Given the description of an element on the screen output the (x, y) to click on. 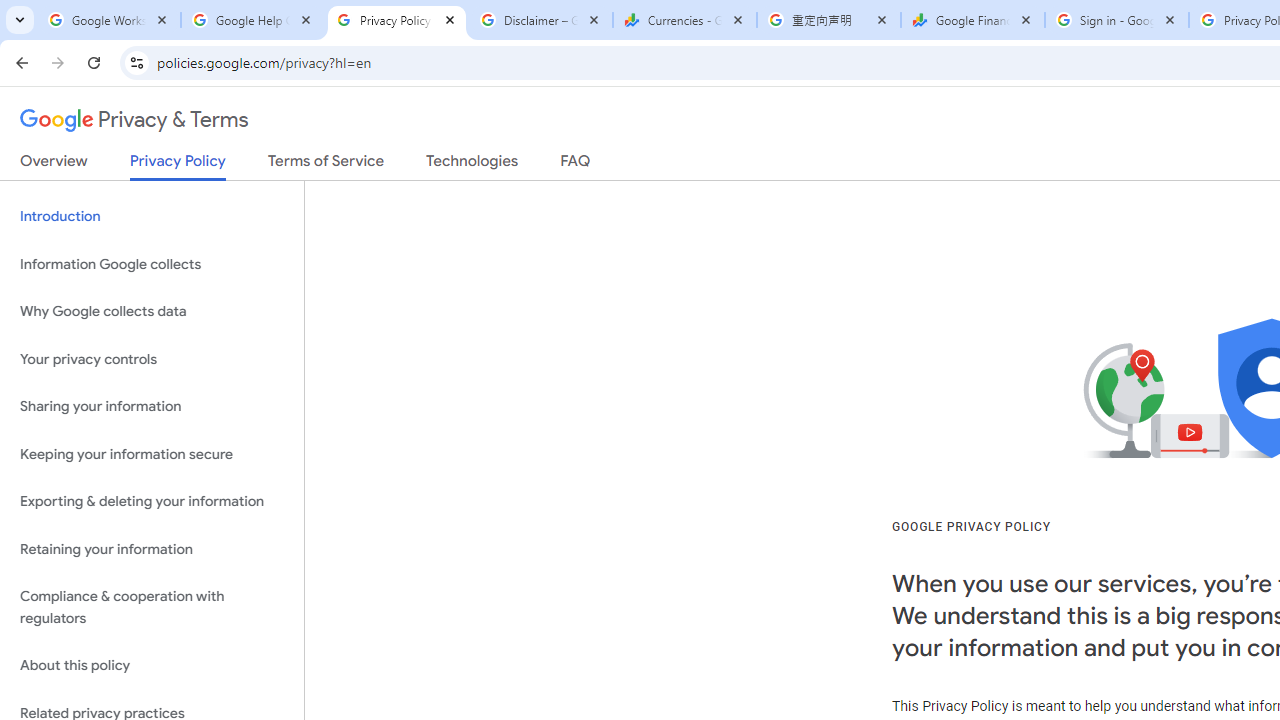
Sharing your information (152, 407)
Why Google collects data (152, 312)
Currencies - Google Finance (684, 20)
Your privacy controls (152, 358)
